Given the description of an element on the screen output the (x, y) to click on. 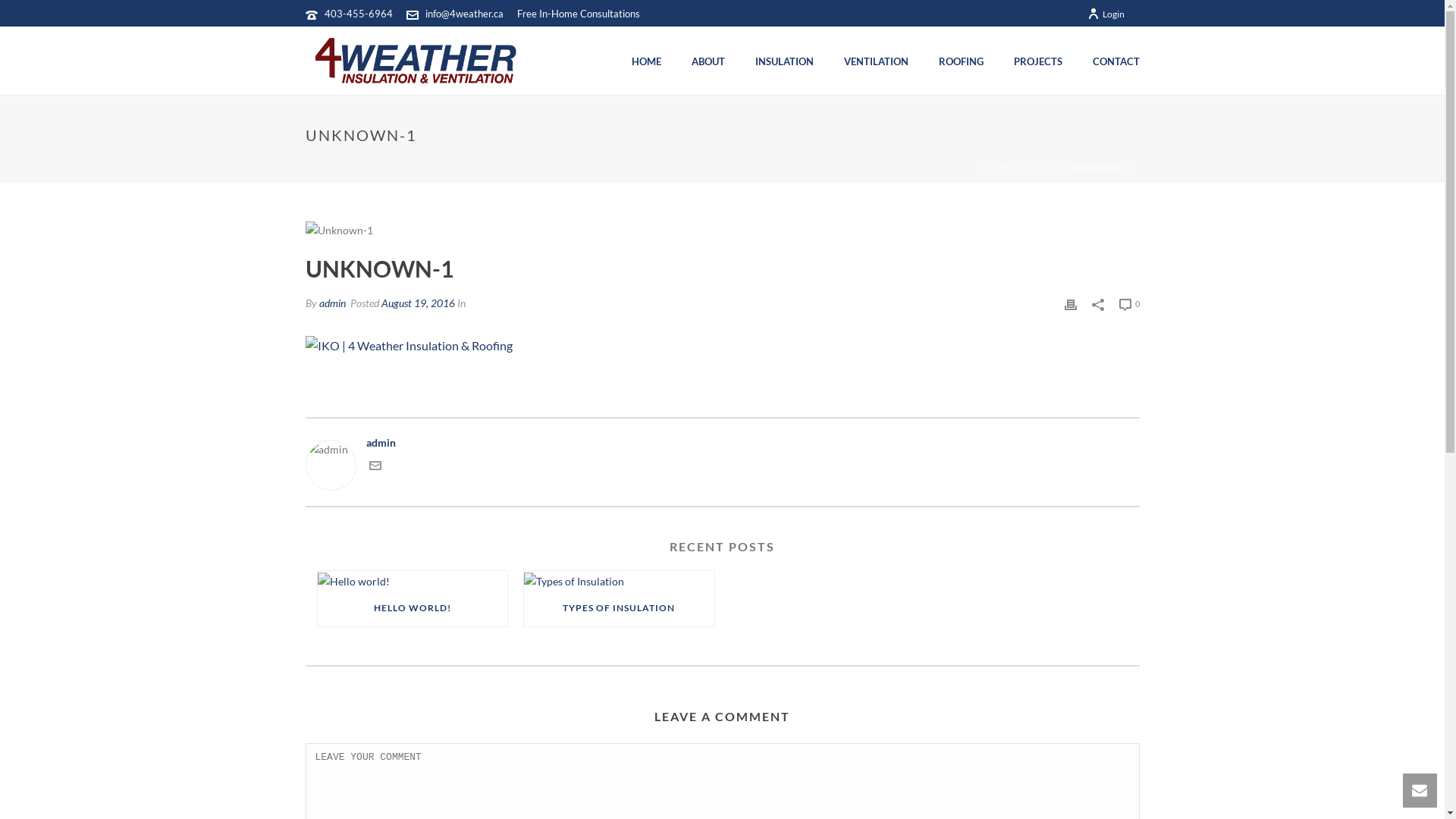
Print Element type: hover (1070, 302)
HELLO WORLD! Element type: text (411, 607)
August 19, 2016 Element type: text (417, 302)
HOME Element type: text (995, 166)
CONTACT Element type: text (1115, 61)
admin Element type: text (721, 442)
Types of Insulation Element type: hover (619, 580)
admin Element type: text (331, 302)
Get in touch with me via email Element type: hover (374, 467)
info@4weather.ca Element type: text (463, 13)
Calgary's Ventilation, Insulation & Roofing Experts Element type: hover (414, 60)
ABOUT Element type: text (708, 61)
INSULATION Element type: text (784, 61)
HOME Element type: text (645, 61)
NEW ROOF Element type: text (1041, 166)
PROJECTS Element type: text (1036, 61)
Unknown-1 Element type: hover (338, 229)
ROOFING Element type: text (960, 61)
Login Element type: text (1105, 13)
Hello world! Element type: hover (411, 580)
403-455-6964 Element type: text (358, 13)
0 Element type: text (1129, 303)
TYPES OF INSULATION Element type: text (619, 607)
VENTILATION Element type: text (875, 61)
